Given the description of an element on the screen output the (x, y) to click on. 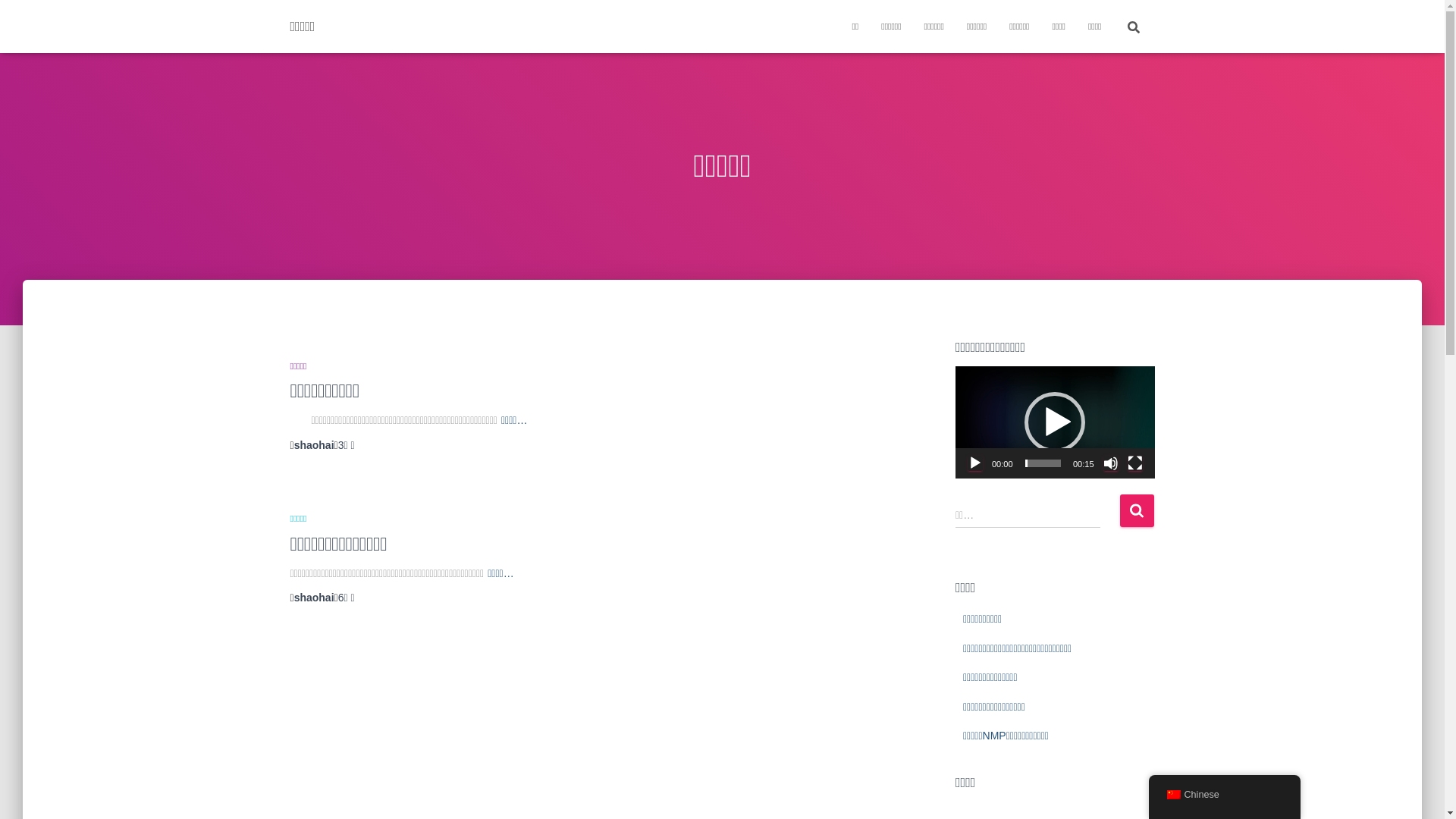
shaohai Element type: text (314, 445)
Chinese Element type: hover (1172, 794)
shaohai Element type: text (314, 597)
Chinese Element type: text (1223, 794)
